Given the description of an element on the screen output the (x, y) to click on. 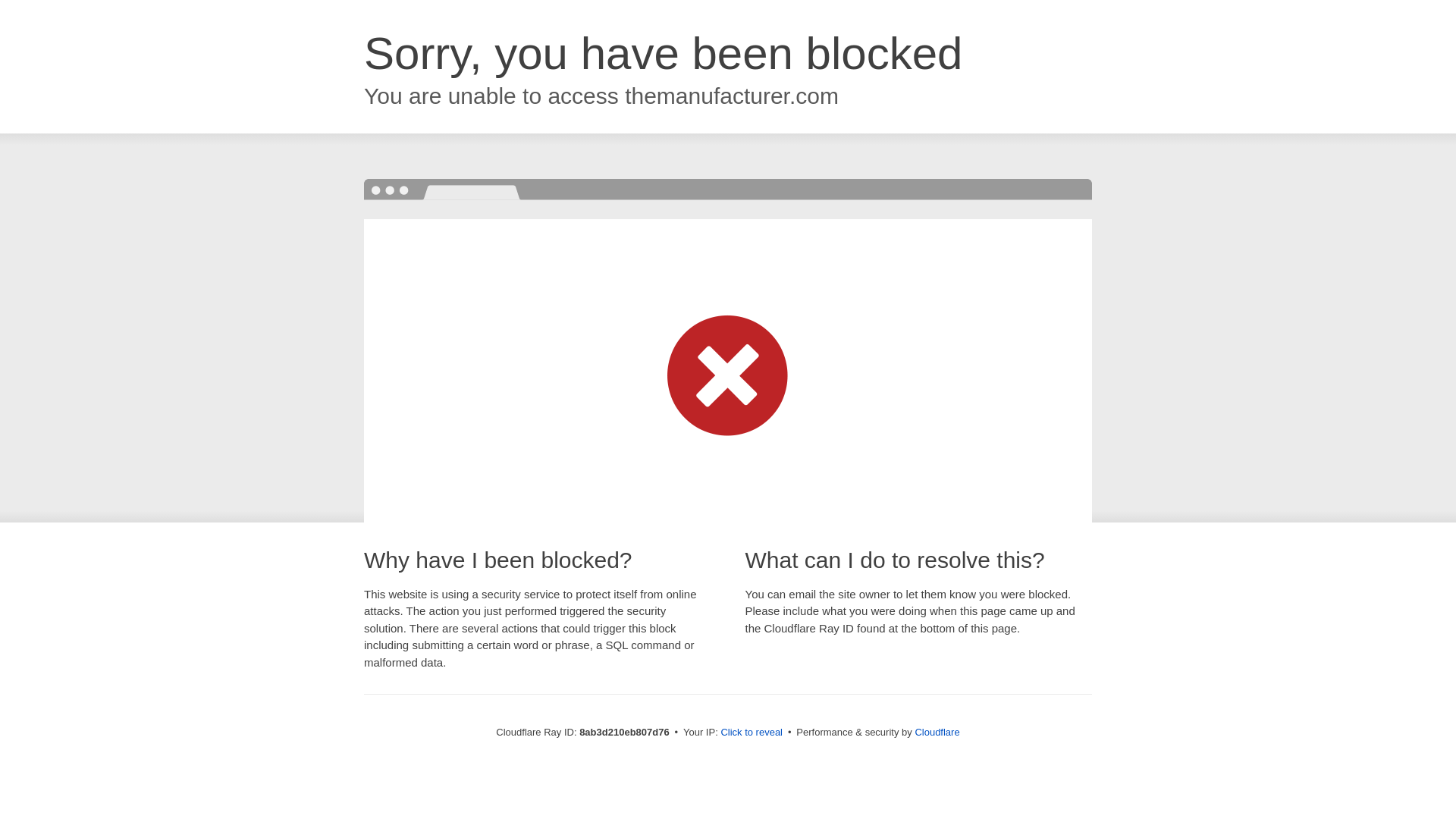
Cloudflare (936, 731)
Click to reveal (751, 732)
